Given the description of an element on the screen output the (x, y) to click on. 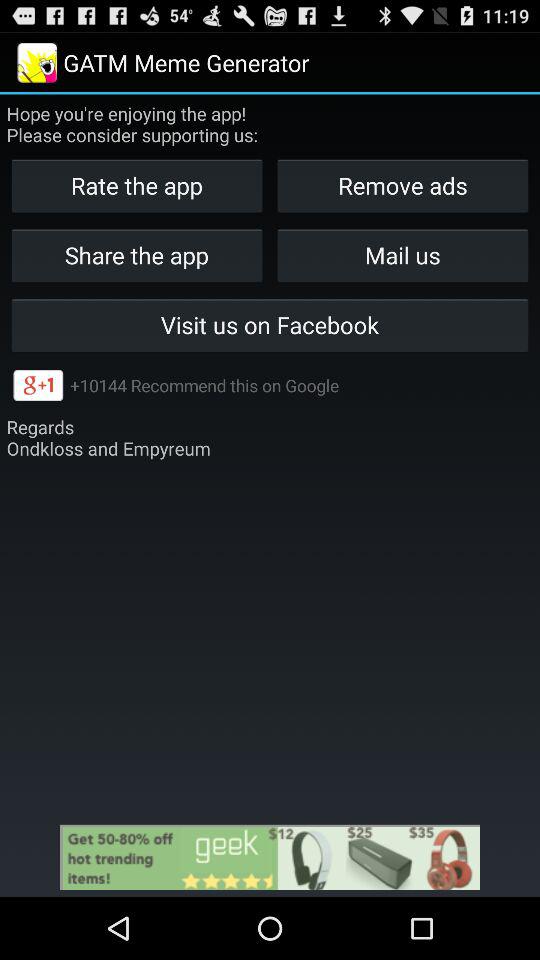
share the article (270, 857)
